Given the description of an element on the screen output the (x, y) to click on. 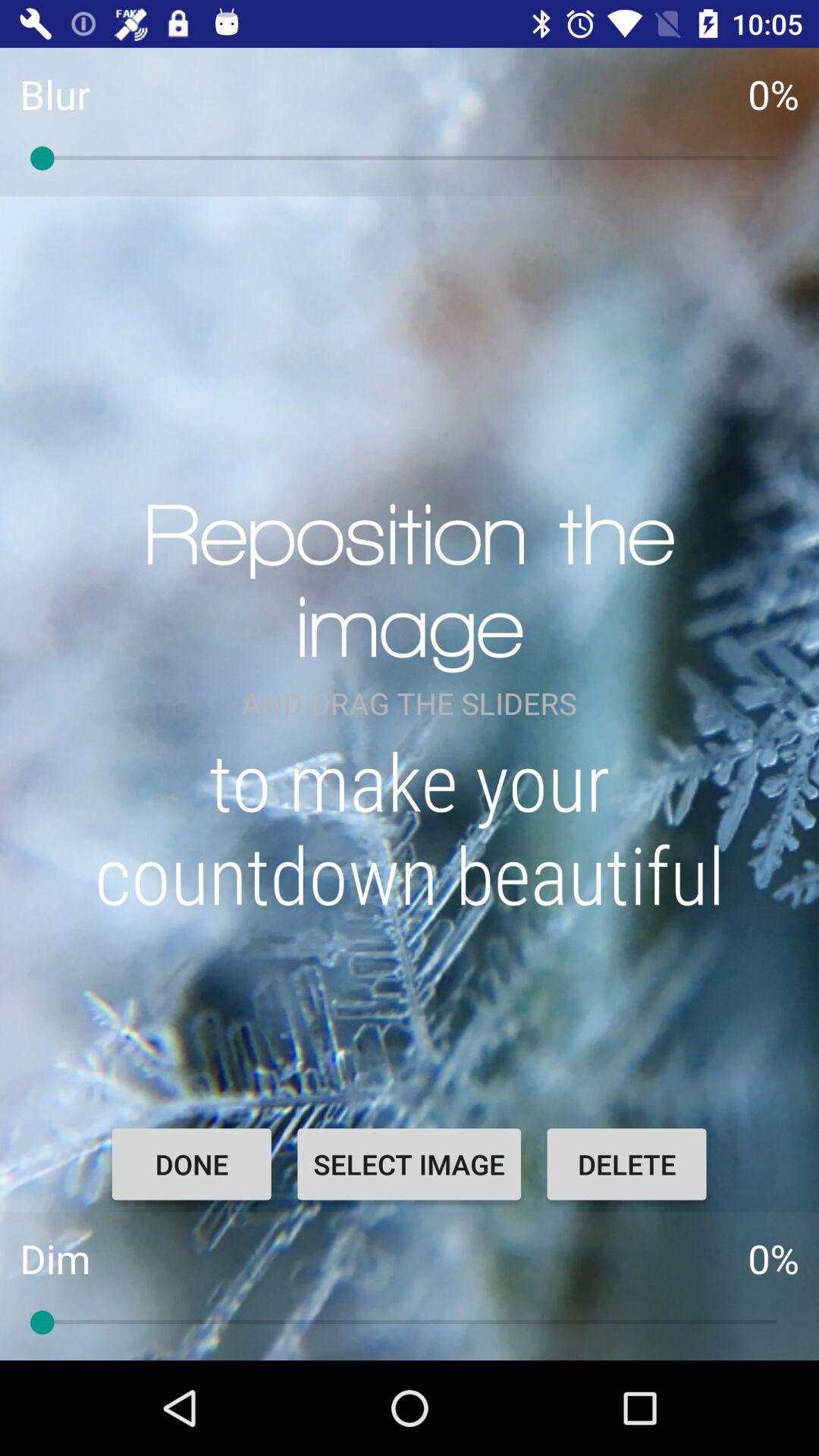
tap the item below to make your item (408, 1164)
